Given the description of an element on the screen output the (x, y) to click on. 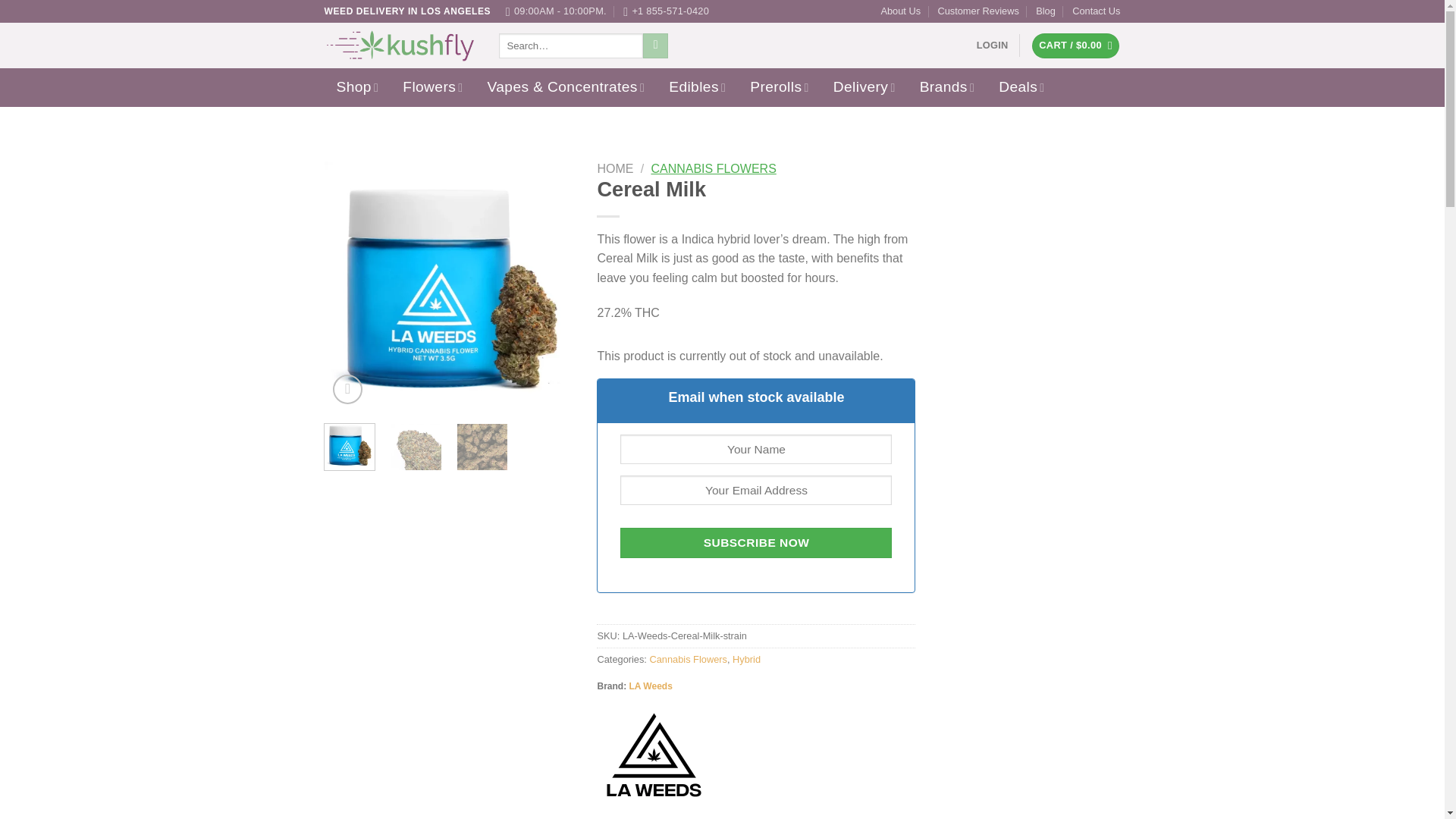
Search (655, 45)
Login (992, 44)
Subscribe Now (755, 542)
Shop (357, 87)
09:00AM - 10:00PM.  (556, 11)
About Us (900, 11)
Customer Reviews (977, 11)
Zoom (347, 389)
Flowers (433, 87)
09:00AM - 10:00PM. (556, 11)
